Given the description of an element on the screen output the (x, y) to click on. 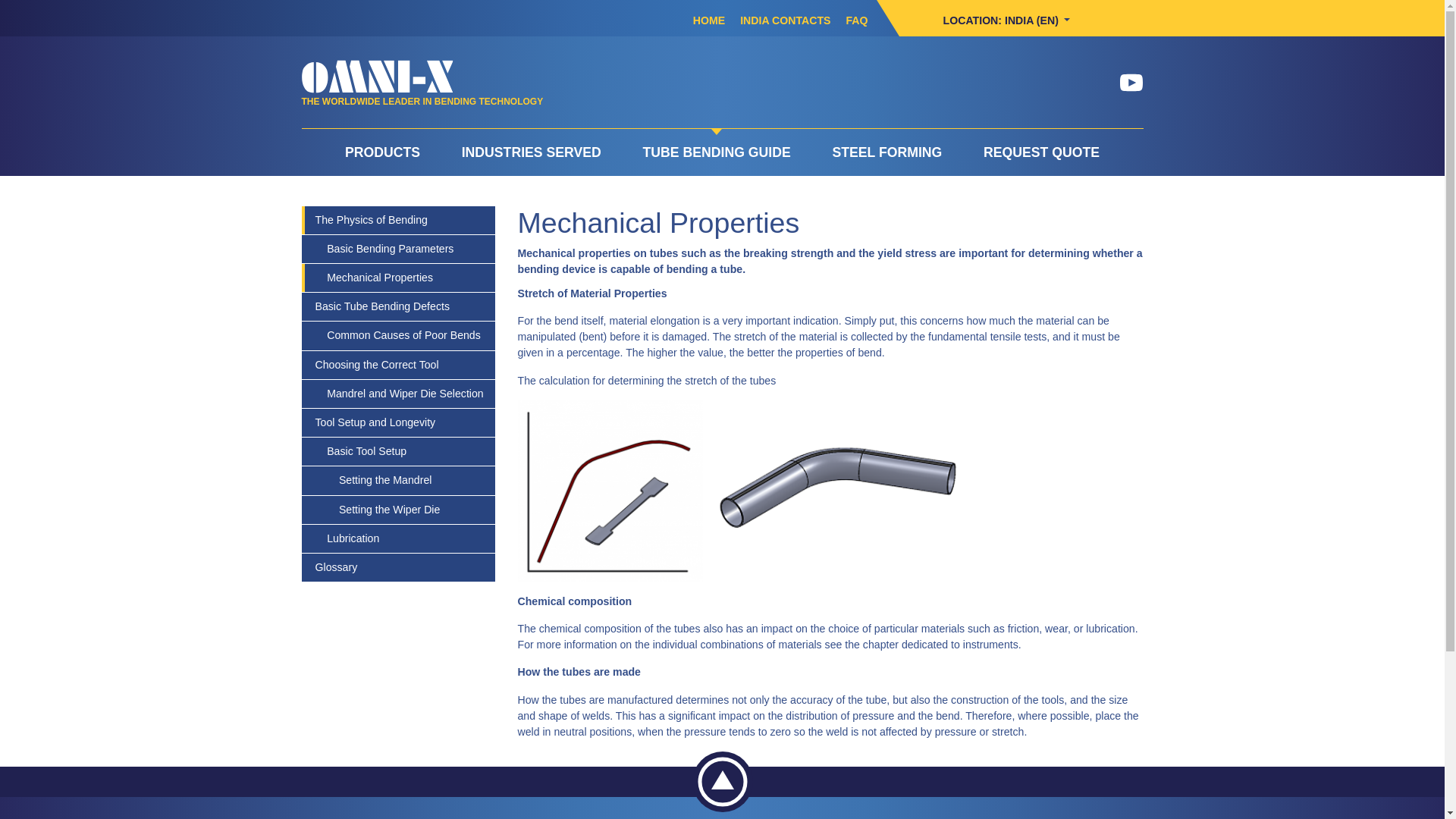
Tool Setup and Longevity (399, 422)
        Setting the Mandrel (399, 480)
Glossary (399, 567)
Basic Tube Bending Defects (399, 306)
INDUSTRIES SERVED (531, 152)
    Mechanical Properties (399, 277)
    Mandrel and Wiper Die Selection (399, 393)
TUBE BENDING GUIDE (715, 152)
Choosing the Correct Tool (399, 365)
HOME (708, 20)
    Basic Tool Setup (399, 451)
    Common Causes of Poor Bends (399, 335)
THE WORLDWIDE LEADER IN BENDING TECHNOLOGY (422, 101)
    Basic Bending Parameters (399, 248)
FAQ (856, 20)
